Given the description of an element on the screen output the (x, y) to click on. 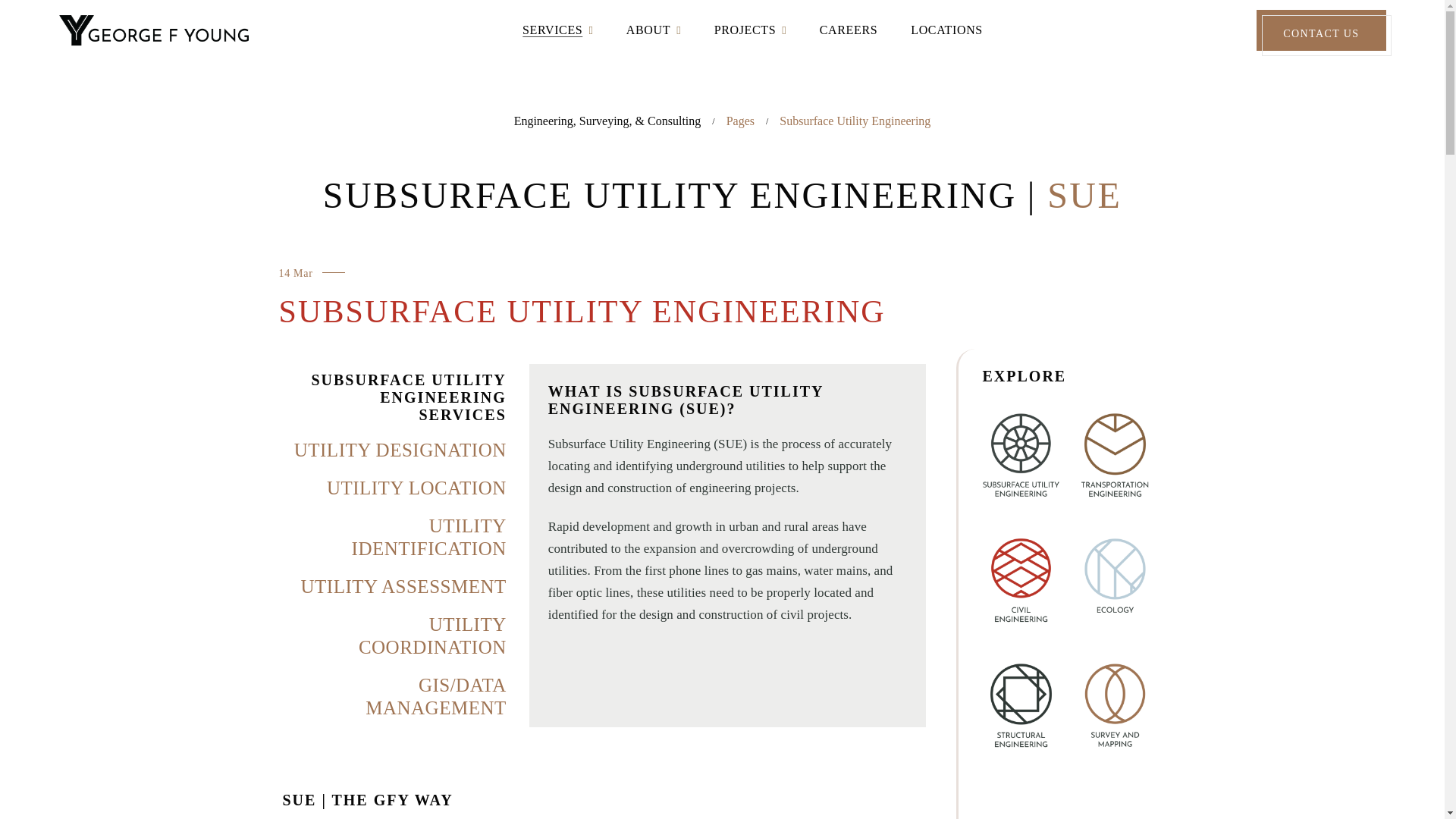
Subsurface Utility Engineering (582, 311)
SERVICES (552, 30)
PROJECTS (745, 30)
